Given the description of an element on the screen output the (x, y) to click on. 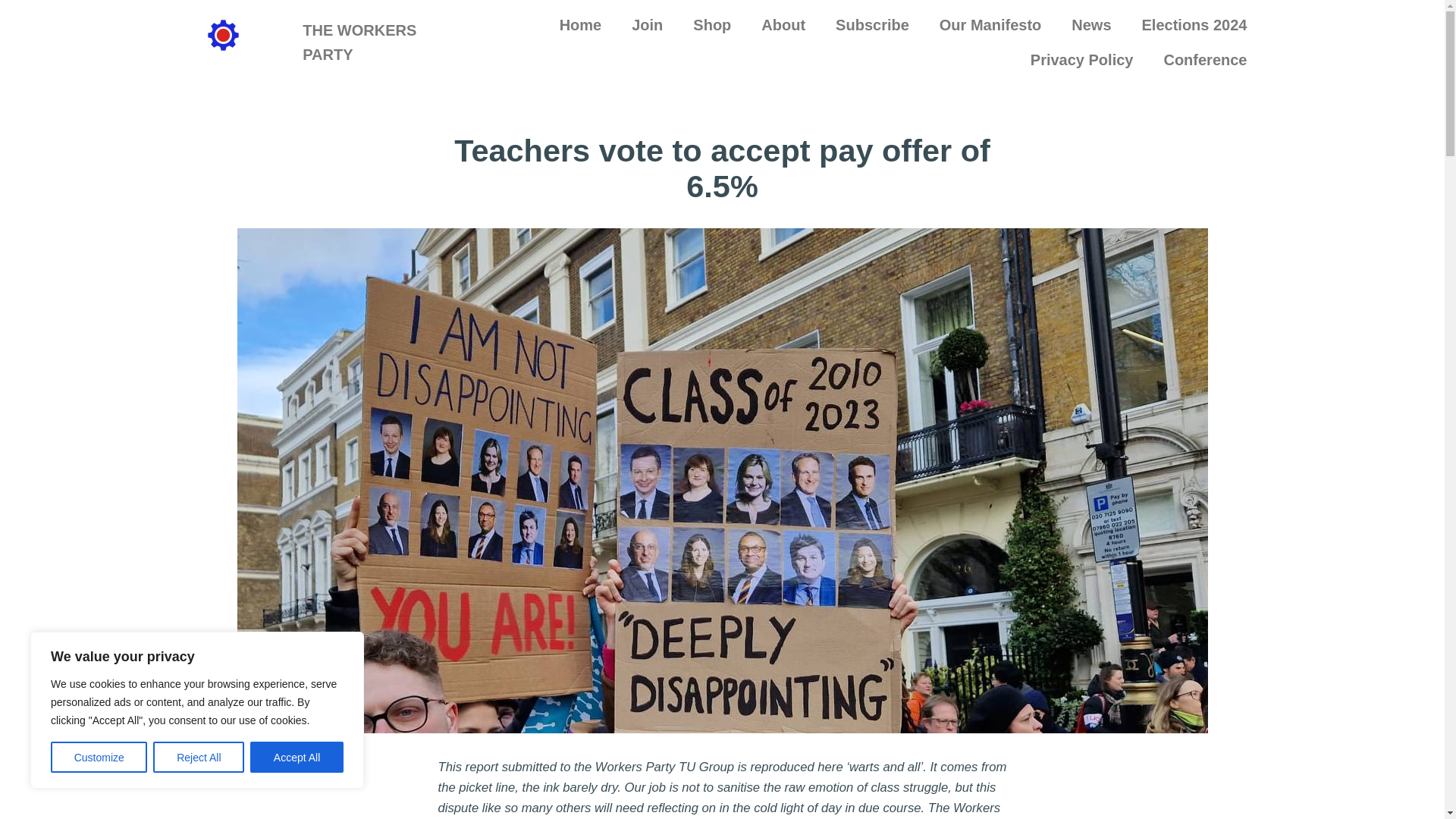
Accept All (296, 757)
About (783, 24)
Subscribe (872, 24)
Shop (711, 24)
Reject All (198, 757)
Customize (98, 757)
Home (580, 24)
Join (646, 24)
Workers Party Logo (223, 35)
